Given the description of an element on the screen output the (x, y) to click on. 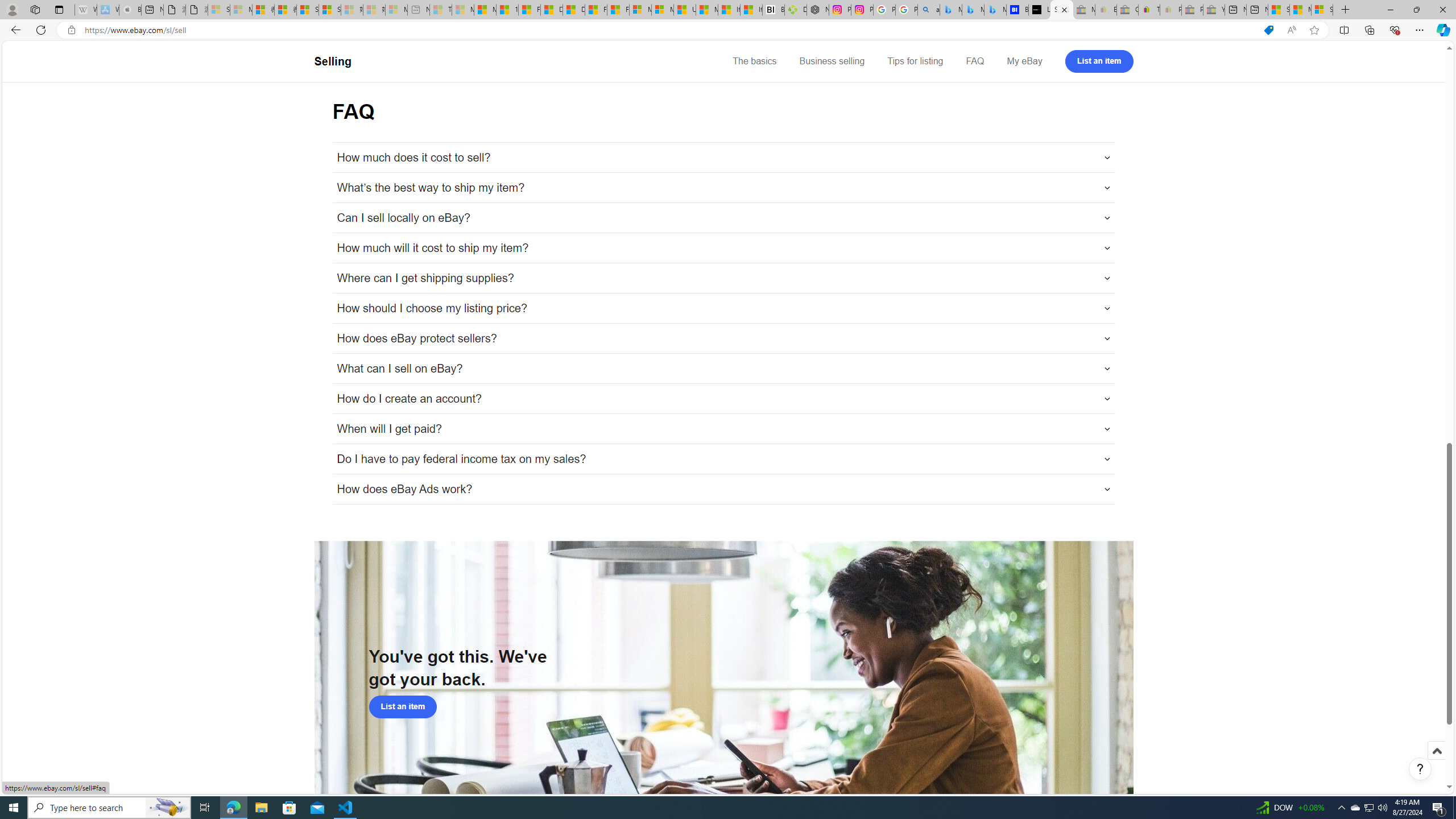
How should I choose my listing price? (723, 308)
FAQ (974, 60)
Payments Terms of Use | eBay.com - Sleeping (1170, 9)
Can I sell locally on eBay? (723, 217)
Scroll to top (1435, 762)
Tips for listing (914, 60)
Microsoft Bing Travel - Shangri-La Hotel Bangkok (995, 9)
